Given the description of an element on the screen output the (x, y) to click on. 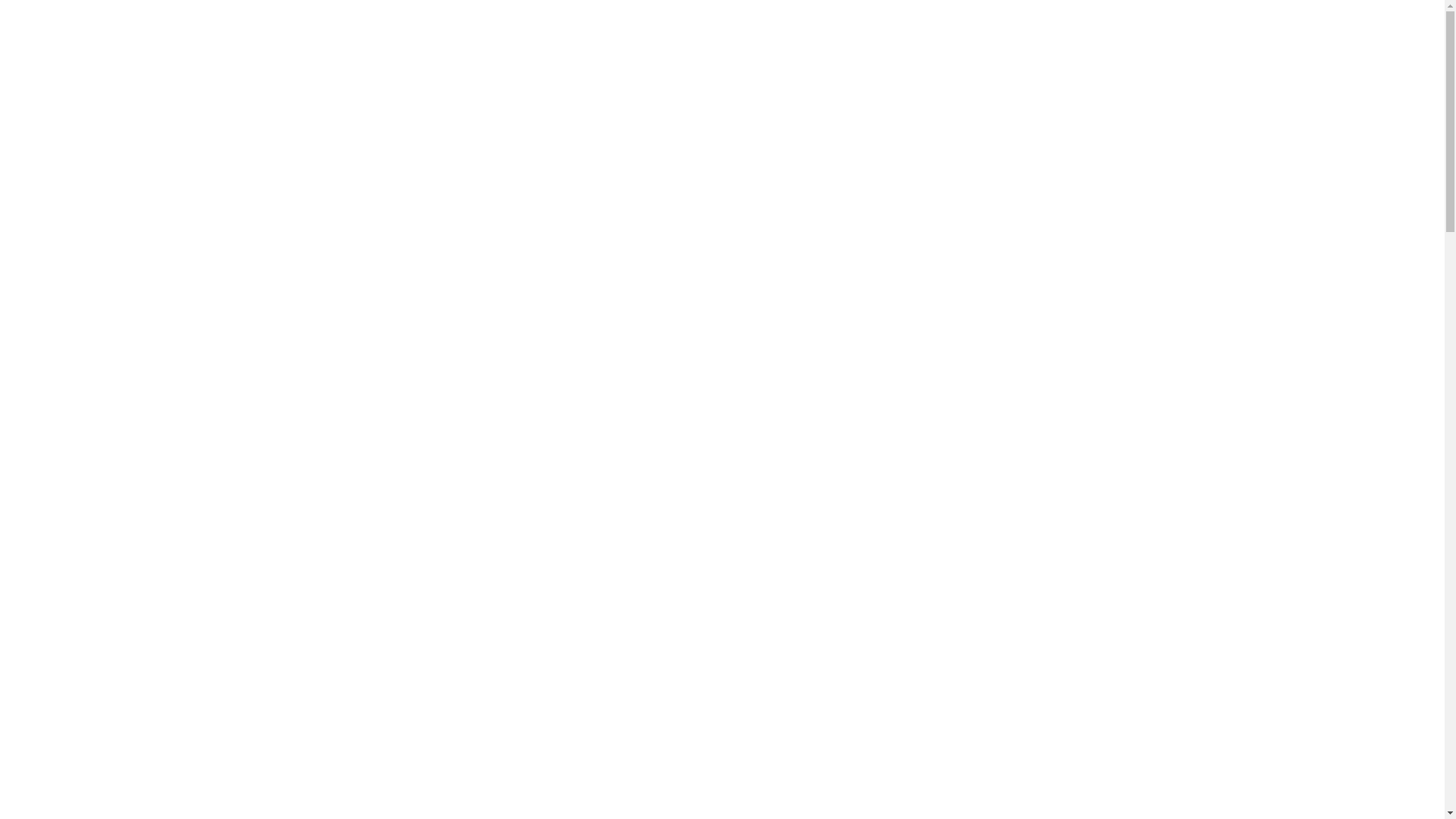
Send this Element type: text (722, 496)
